Given the description of an element on the screen output the (x, y) to click on. 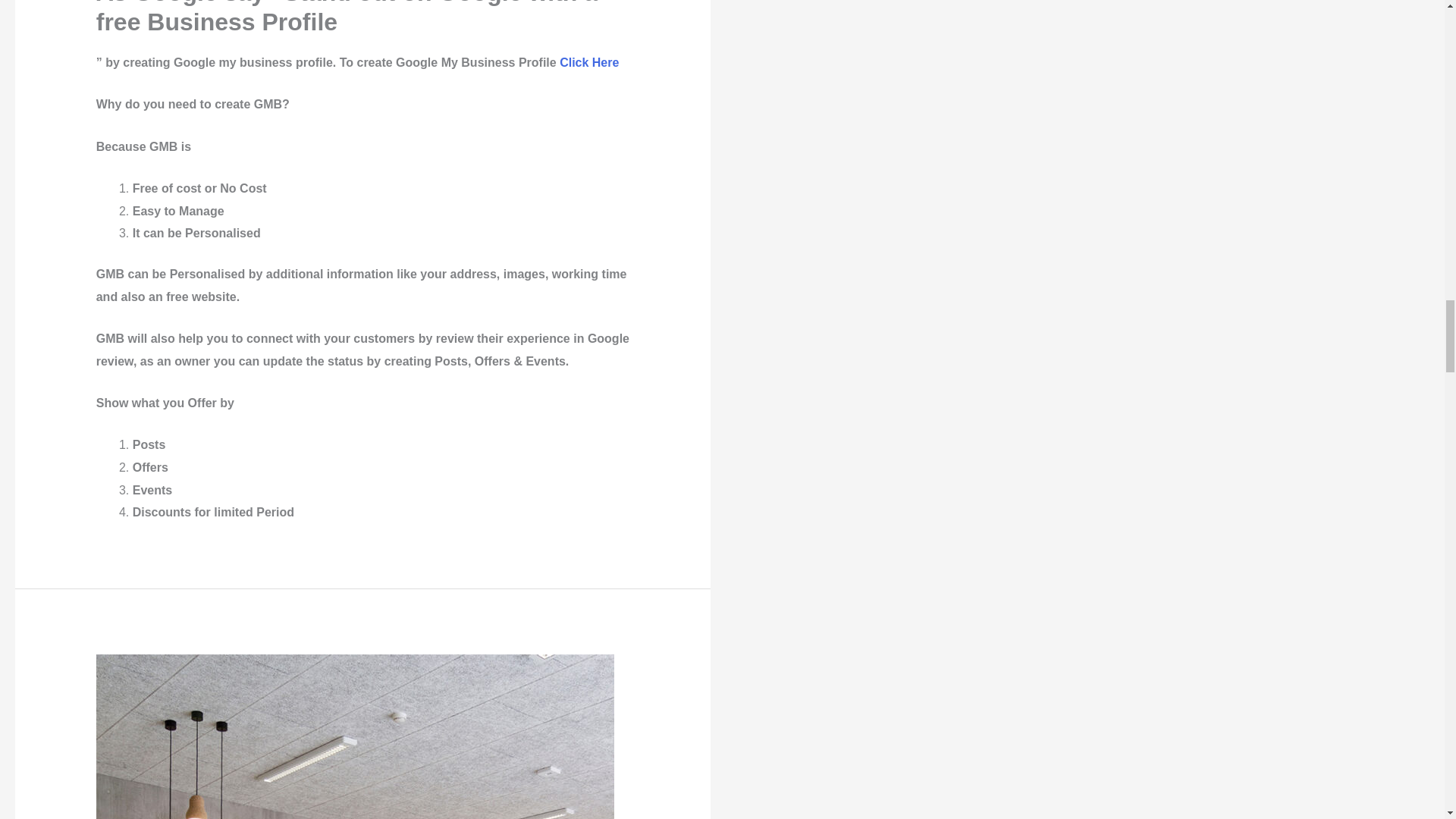
Click Here (588, 62)
